Given the description of an element on the screen output the (x, y) to click on. 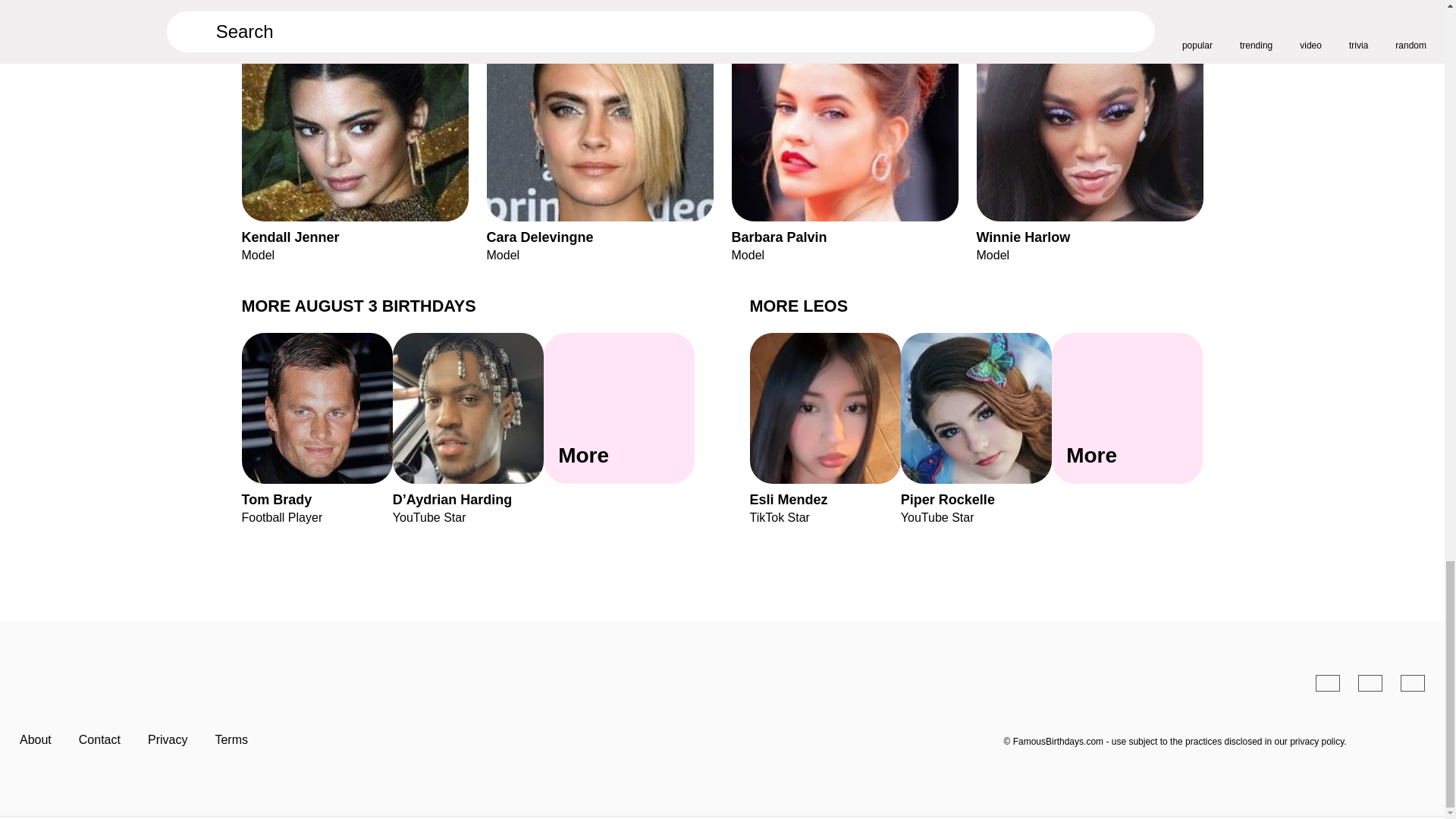
French (1412, 682)
Spanish (1327, 682)
Portuguese (1369, 682)
MORE AUGUST 3 BIRTHDAYS (358, 305)
